Given the description of an element on the screen output the (x, y) to click on. 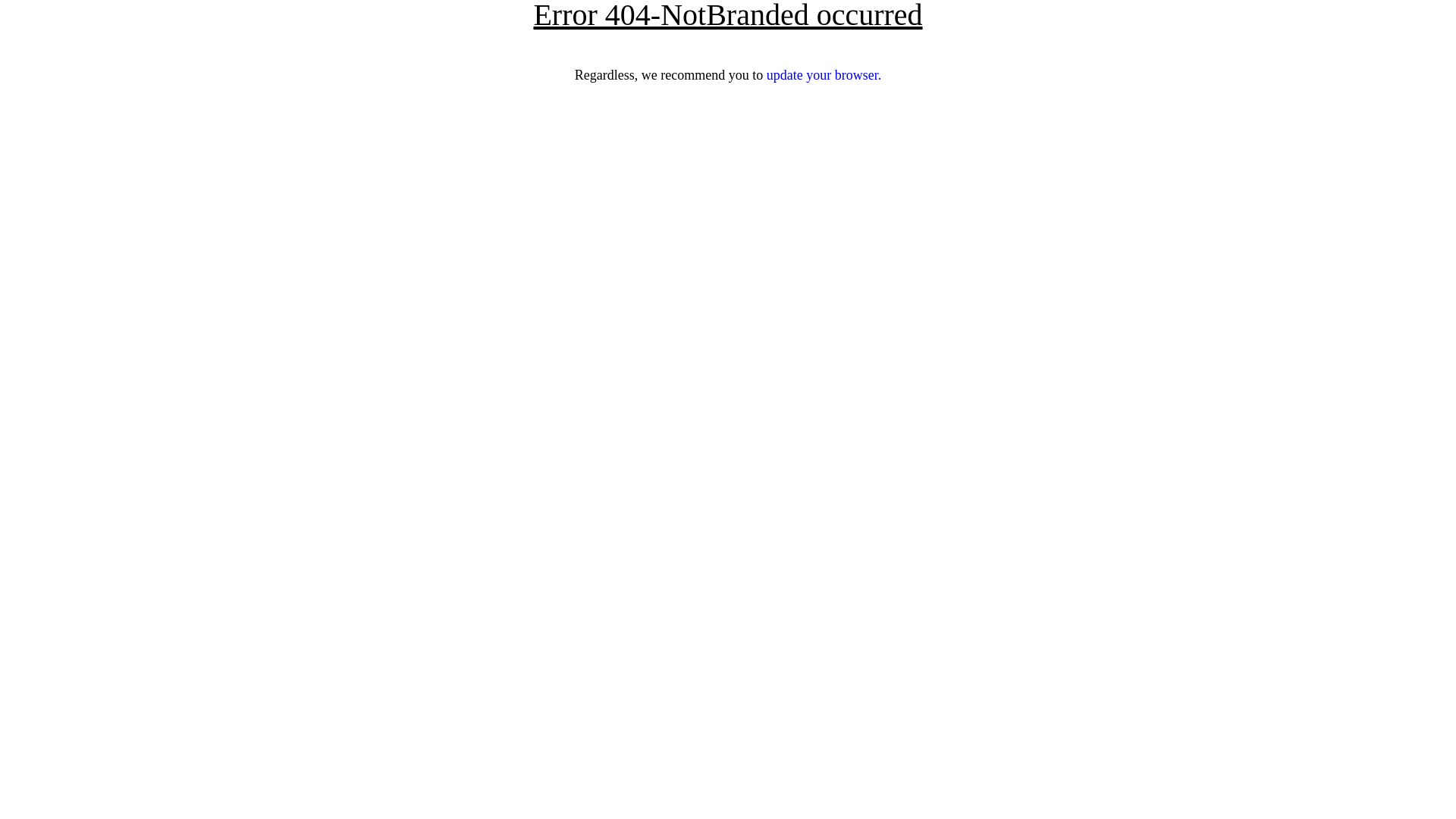
update your browser. Element type: text (823, 74)
